Given the description of an element on the screen output the (x, y) to click on. 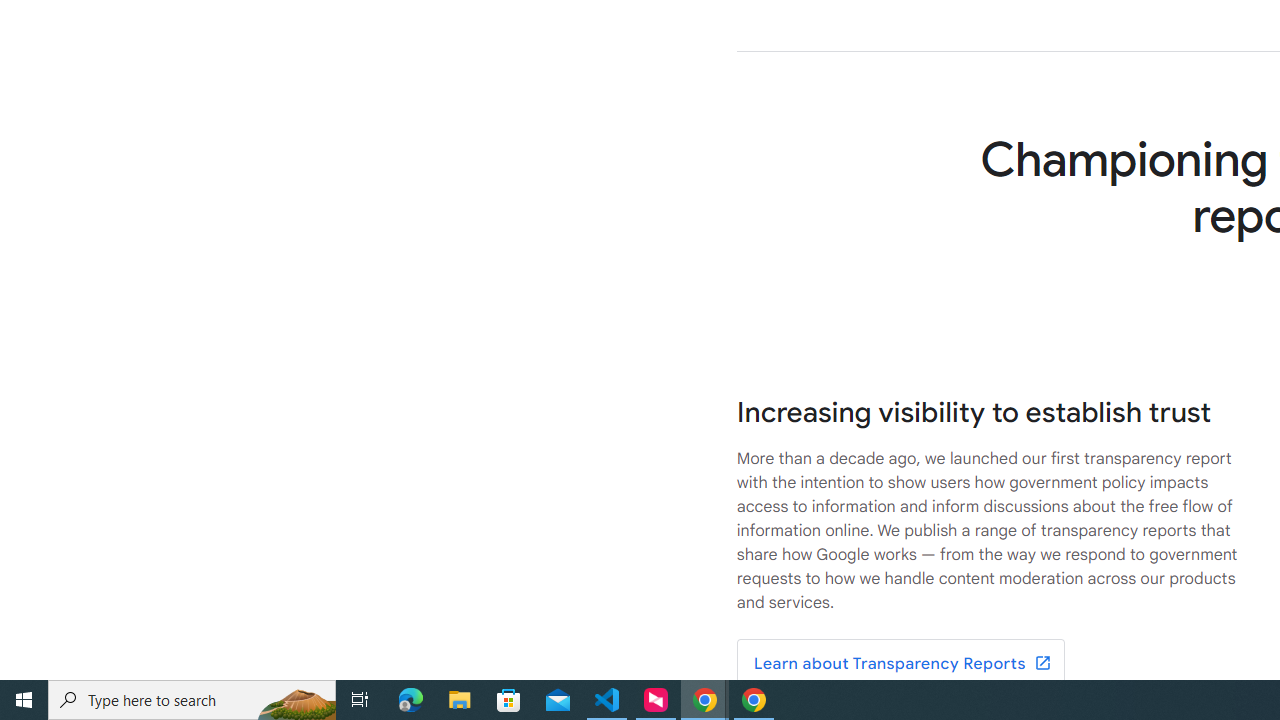
Go to Transparency Report About web page (900, 664)
